Given the description of an element on the screen output the (x, y) to click on. 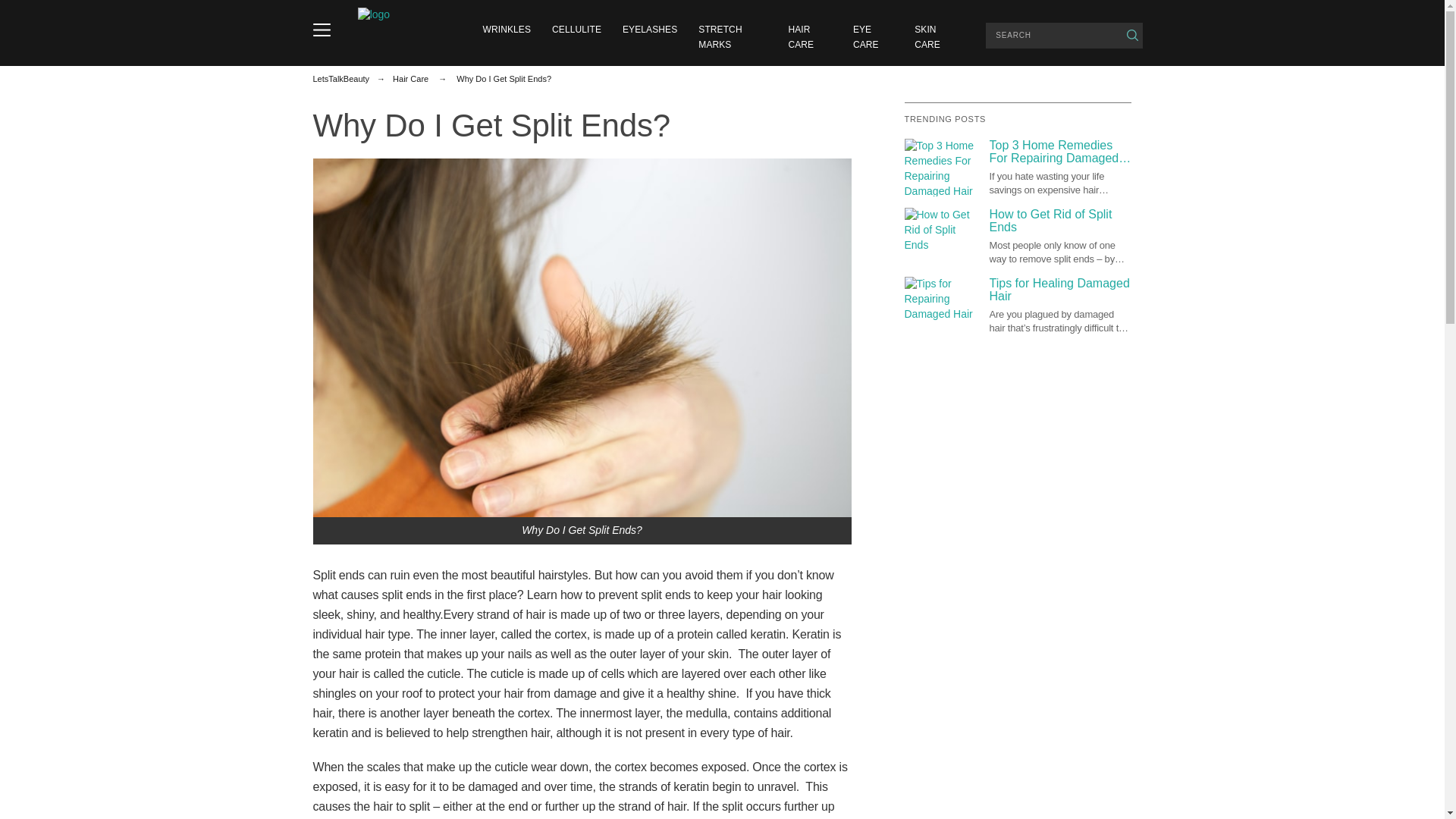
EYELASHES (650, 29)
STRETCH MARKS (719, 36)
Hair Care (410, 78)
CELLULITE (576, 29)
WRINKLES (507, 29)
SKIN CARE (927, 36)
LetsTalkBeauty (341, 78)
EYE CARE (866, 36)
HAIR CARE (800, 36)
